Given the description of an element on the screen output the (x, y) to click on. 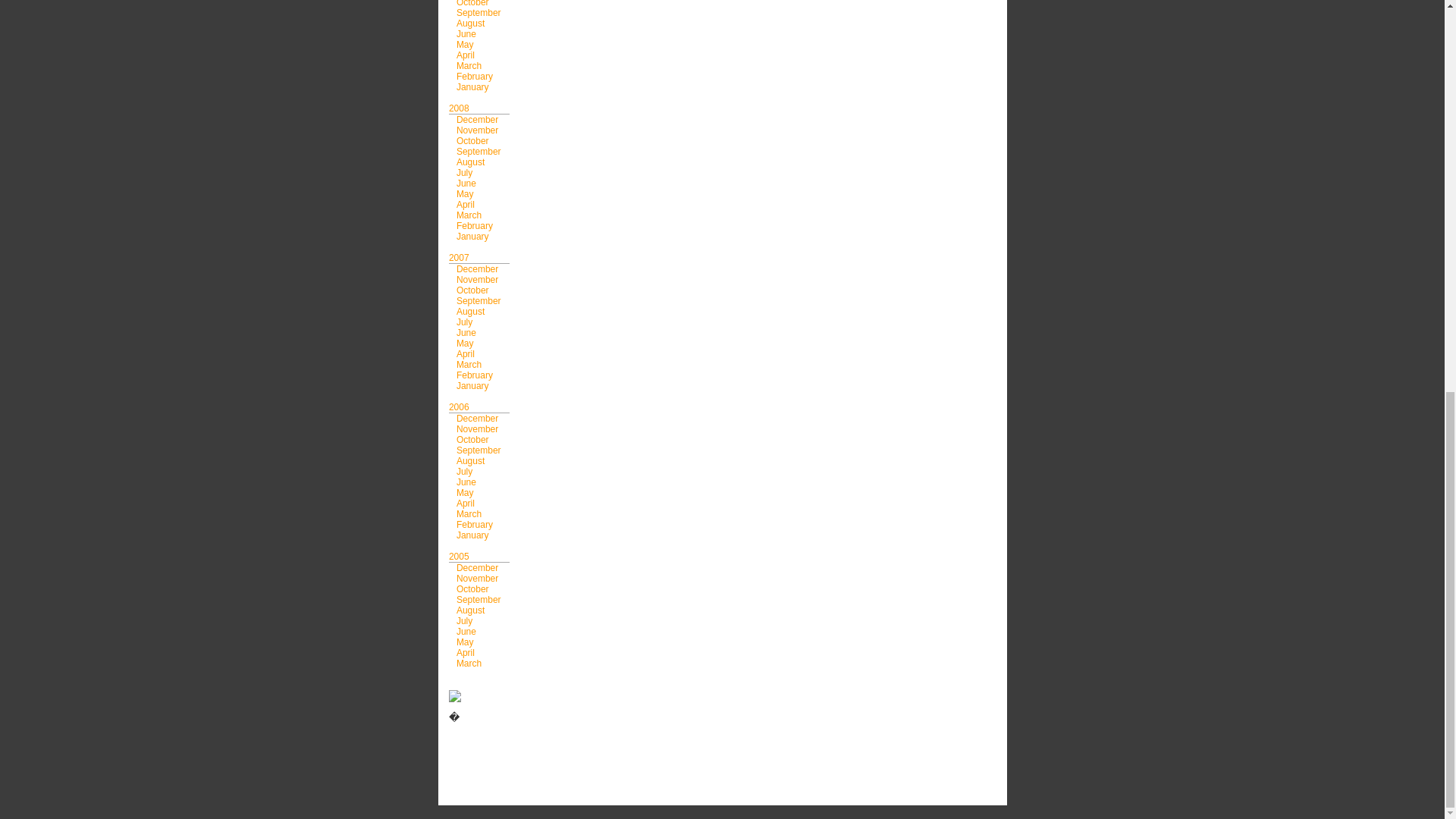
August (470, 23)
September (478, 12)
February (475, 76)
January (473, 86)
June (466, 33)
October (473, 3)
May (465, 44)
March (469, 65)
April (465, 54)
